Given the description of an element on the screen output the (x, y) to click on. 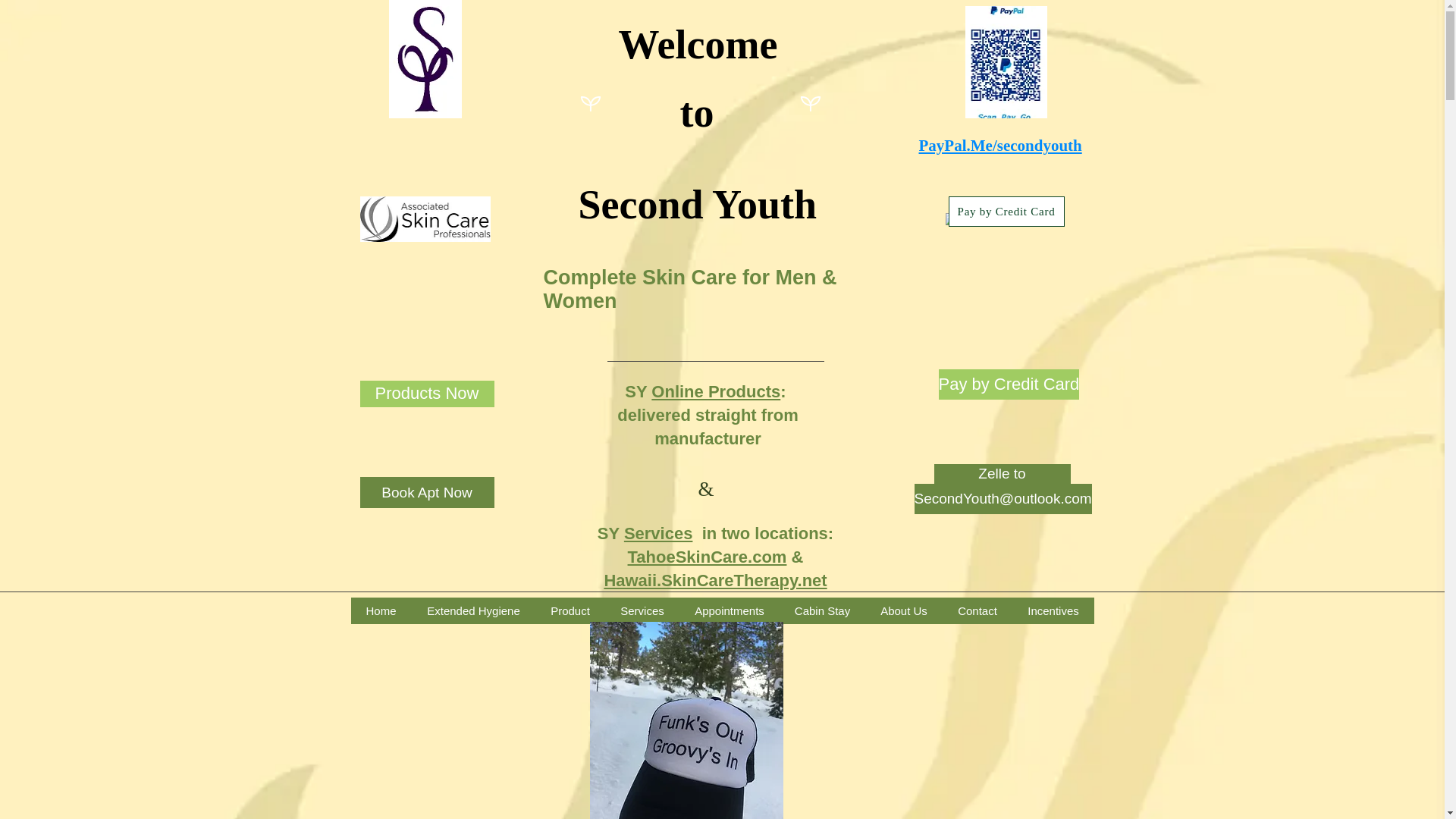
Hawaii.SkinCareTherapy.net (715, 579)
Products Now (426, 393)
Home (380, 610)
Product (570, 610)
Extended Hygiene (472, 610)
Cabin Stay (821, 610)
Pay by Credit Card (1005, 211)
Book Apt Now (426, 491)
Appointments (728, 610)
TahoeSkinCare.com (707, 556)
Pay by Credit Card (1009, 384)
About Us (903, 610)
Services (658, 533)
Online Products (715, 391)
Services (642, 610)
